Given the description of an element on the screen output the (x, y) to click on. 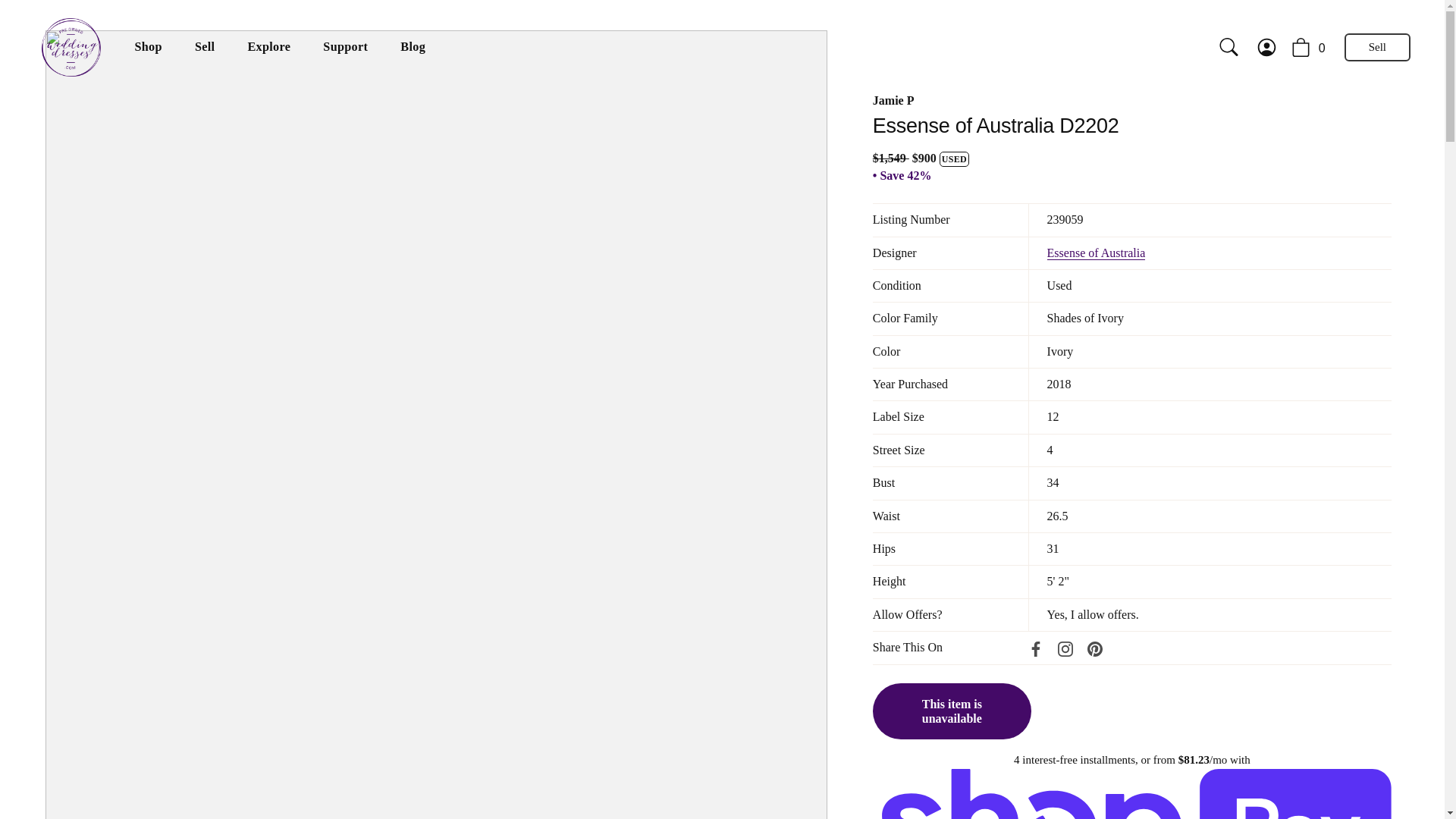
Instagram (1065, 648)
Blog (413, 47)
Explore (268, 47)
Shop (147, 47)
Support (345, 47)
Pinterest (1094, 648)
Account Login (1273, 47)
Sell (203, 47)
